Given the description of an element on the screen output the (x, y) to click on. 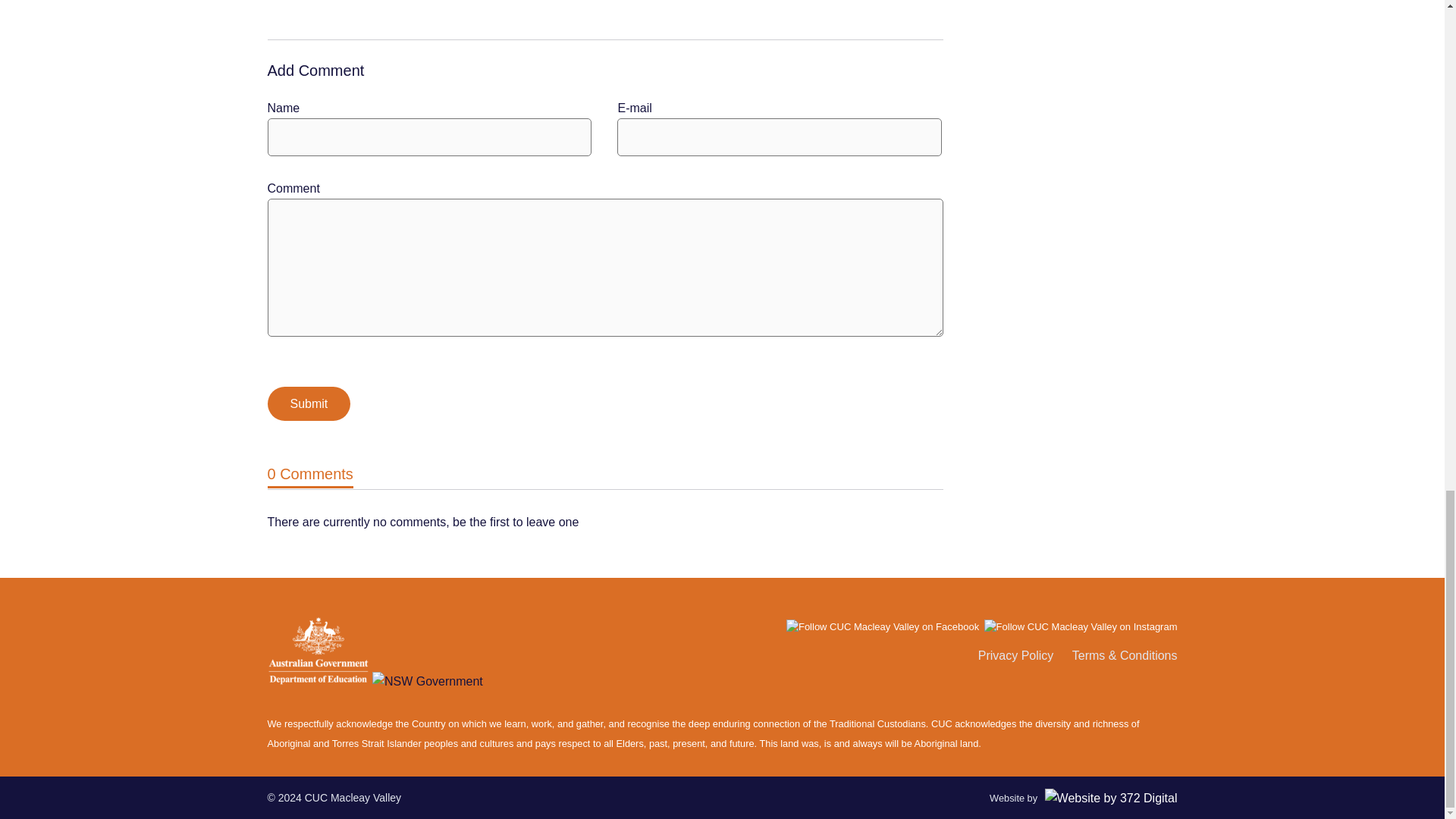
Follow CUC Macleay Valley on Instagram (1080, 626)
Submit (308, 403)
Follow CUC Macleay Valley on Instagram (1080, 626)
NSW Government (427, 681)
Follow CUC Macleay Valley on Facebook (882, 626)
Follow CUC Macleay Valley on Facebook (882, 626)
